Given the description of an element on the screen output the (x, y) to click on. 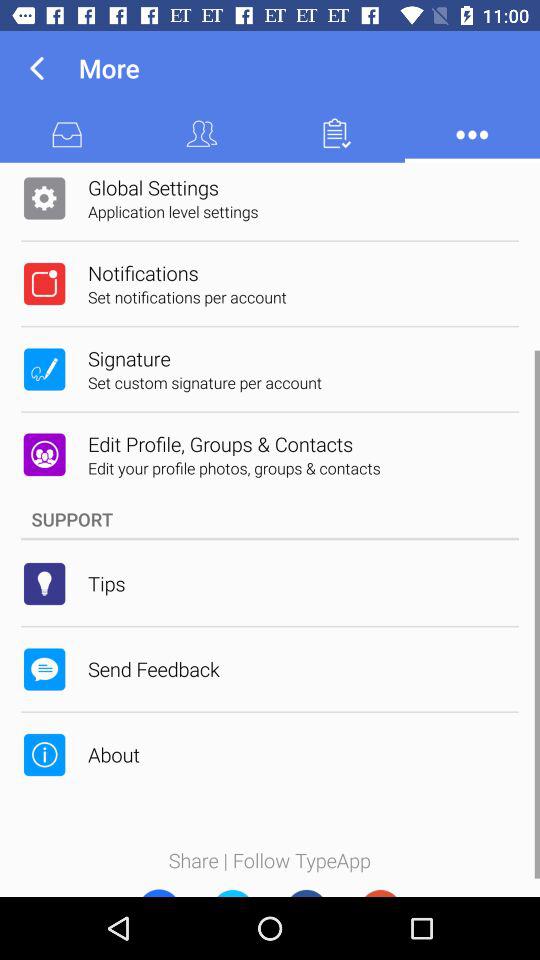
press support item (270, 519)
